Given the description of an element on the screen output the (x, y) to click on. 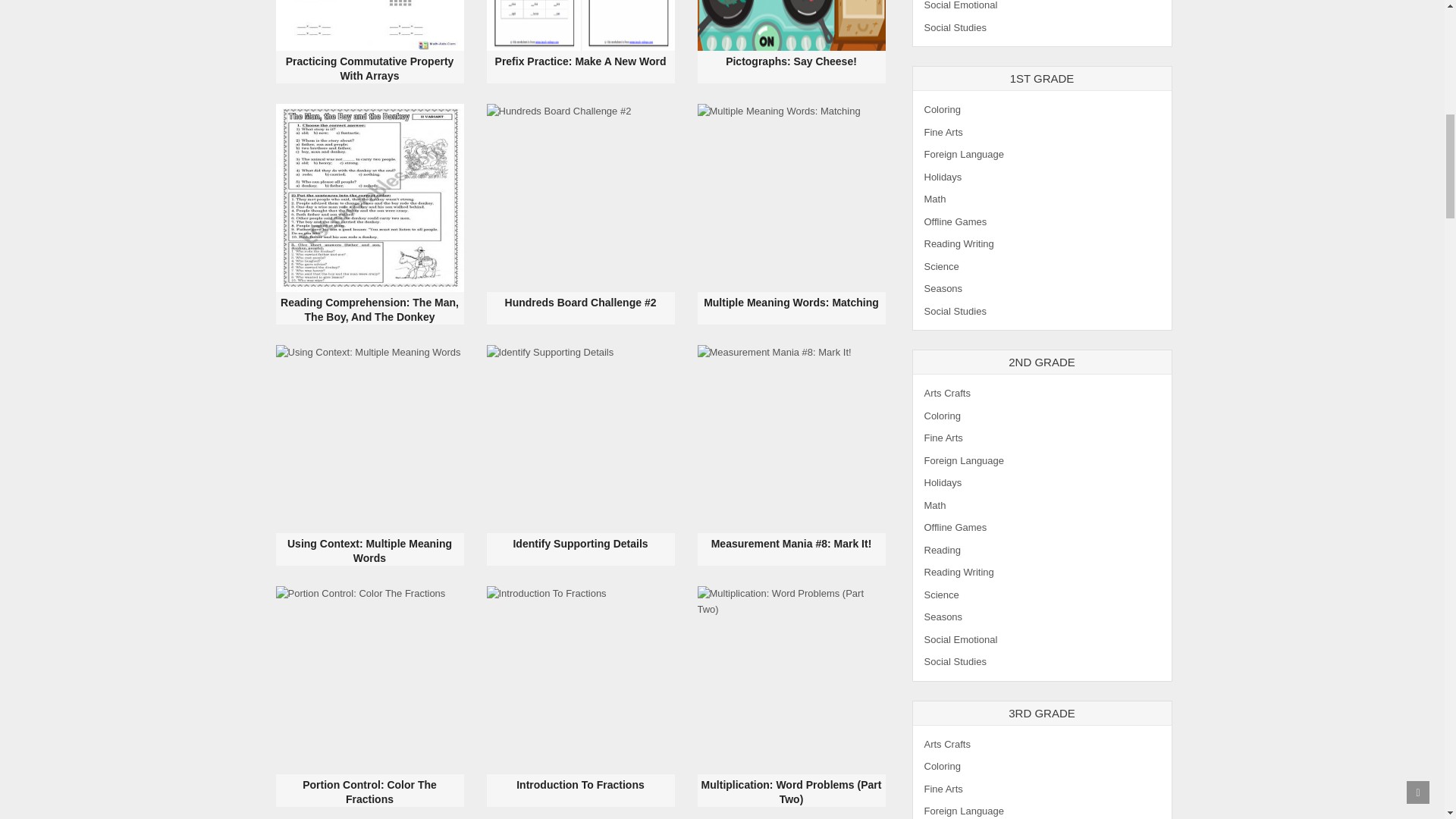
Introduction To Fractions (580, 679)
Multiple Meaning Words: Matching (791, 302)
Pictographs: Say Cheese! (791, 61)
Using Context: Multiple Meaning Words (368, 551)
Pictographs: Say Cheese! (791, 25)
Identify Supporting Details (580, 438)
Using Context: Multiple Meaning Words (370, 438)
Reading Comprehension: The Man, The Boy, And The Donkey (370, 197)
Practicing Commutative Property With Arrays (369, 68)
Multiple Meaning Words: Matching (791, 197)
Prefix Practice: Make A New Word (580, 61)
Portion Control: Color The Fractions (370, 679)
Reading Comprehension: The Man, The Boy, And The Donkey (369, 309)
Practicing Commutative Property With Arrays (370, 25)
Prefix Practice: Make A New Word (580, 25)
